Given the description of an element on the screen output the (x, y) to click on. 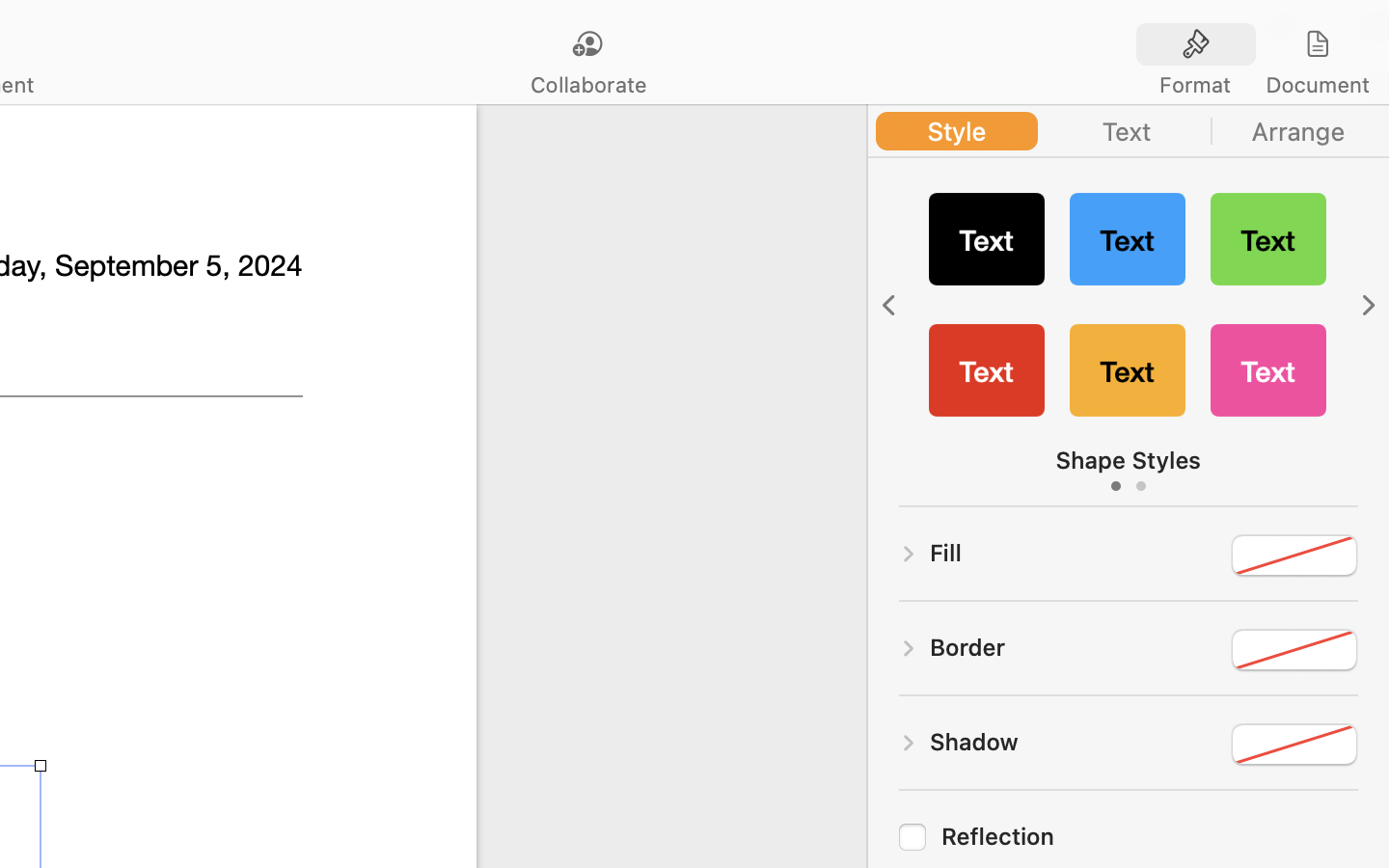
<AXUIElement 0x28b925910> {pid=1482} Element type: AXGroup (1256, 45)
Fill Element type: AXStaticText (946, 552)
